Given the description of an element on the screen output the (x, y) to click on. 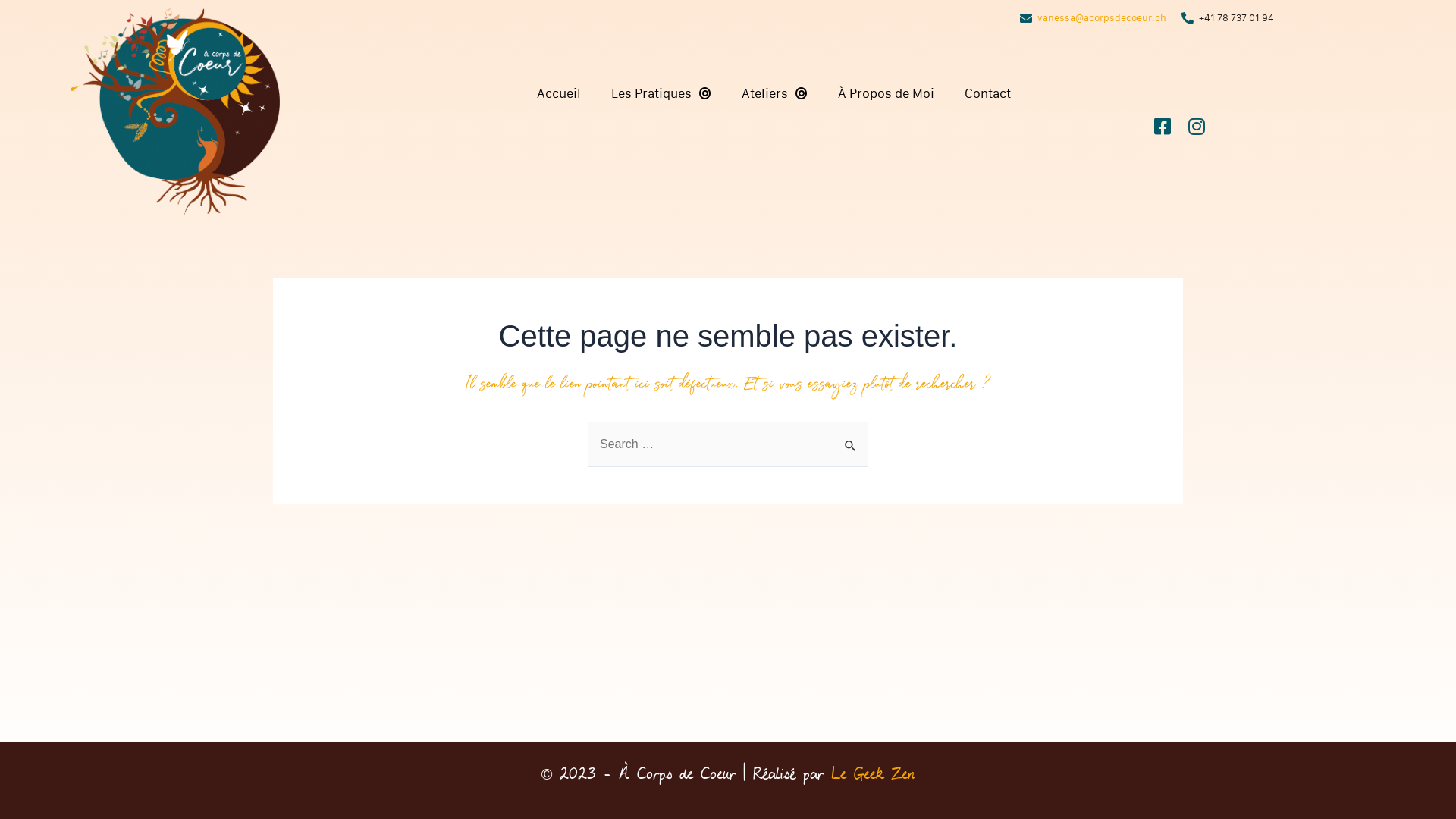
Contact Element type: text (987, 93)
Le Geek Zen Element type: text (872, 774)
Les Pratiques Element type: text (661, 93)
vanessa@acorpsdecoeur.ch Element type: text (1101, 17)
Accueil Element type: text (558, 93)
Rechercher Element type: text (851, 437)
Ateliers Element type: text (774, 93)
